Given the description of an element on the screen output the (x, y) to click on. 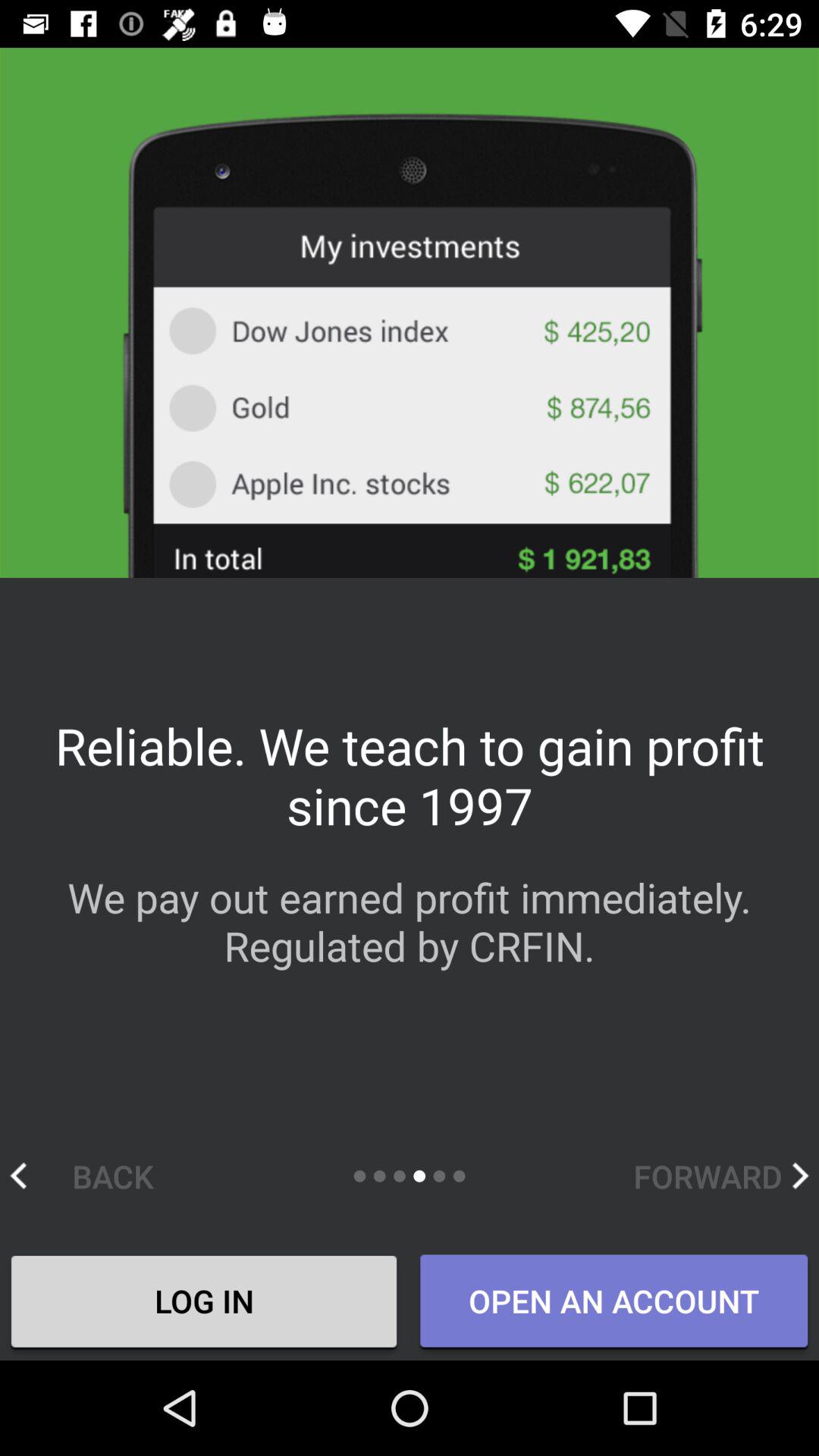
launch the item above the open an account icon (720, 1175)
